Given the description of an element on the screen output the (x, y) to click on. 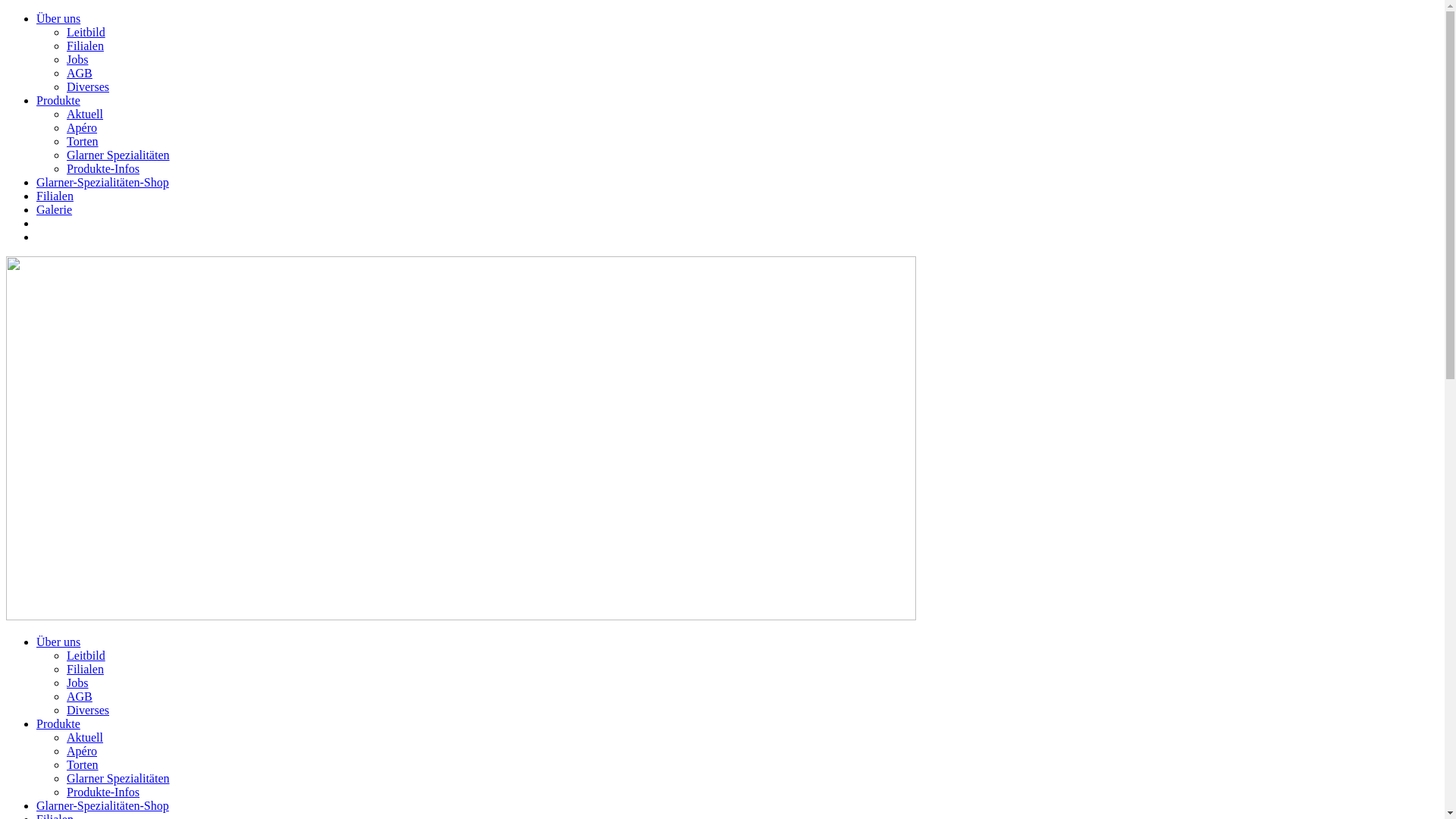
Torten Element type: text (82, 140)
Produkte-Infos Element type: text (102, 168)
Galerie Element type: text (54, 209)
Filialen Element type: text (54, 195)
AGB Element type: text (79, 696)
Aktuell Element type: text (84, 113)
Diverses Element type: text (87, 86)
Diverses Element type: text (87, 709)
AGB Element type: text (79, 72)
Produkte-Infos Element type: text (102, 791)
Leitbild Element type: text (85, 655)
Jobs Element type: text (76, 682)
Jobs Element type: text (76, 59)
Produkte Element type: text (58, 100)
Torten Element type: text (82, 764)
Aktuell Element type: text (84, 737)
Filialen Element type: text (84, 668)
Produkte Element type: text (58, 723)
Leitbild Element type: text (85, 31)
Filialen Element type: text (84, 45)
